Given the description of an element on the screen output the (x, y) to click on. 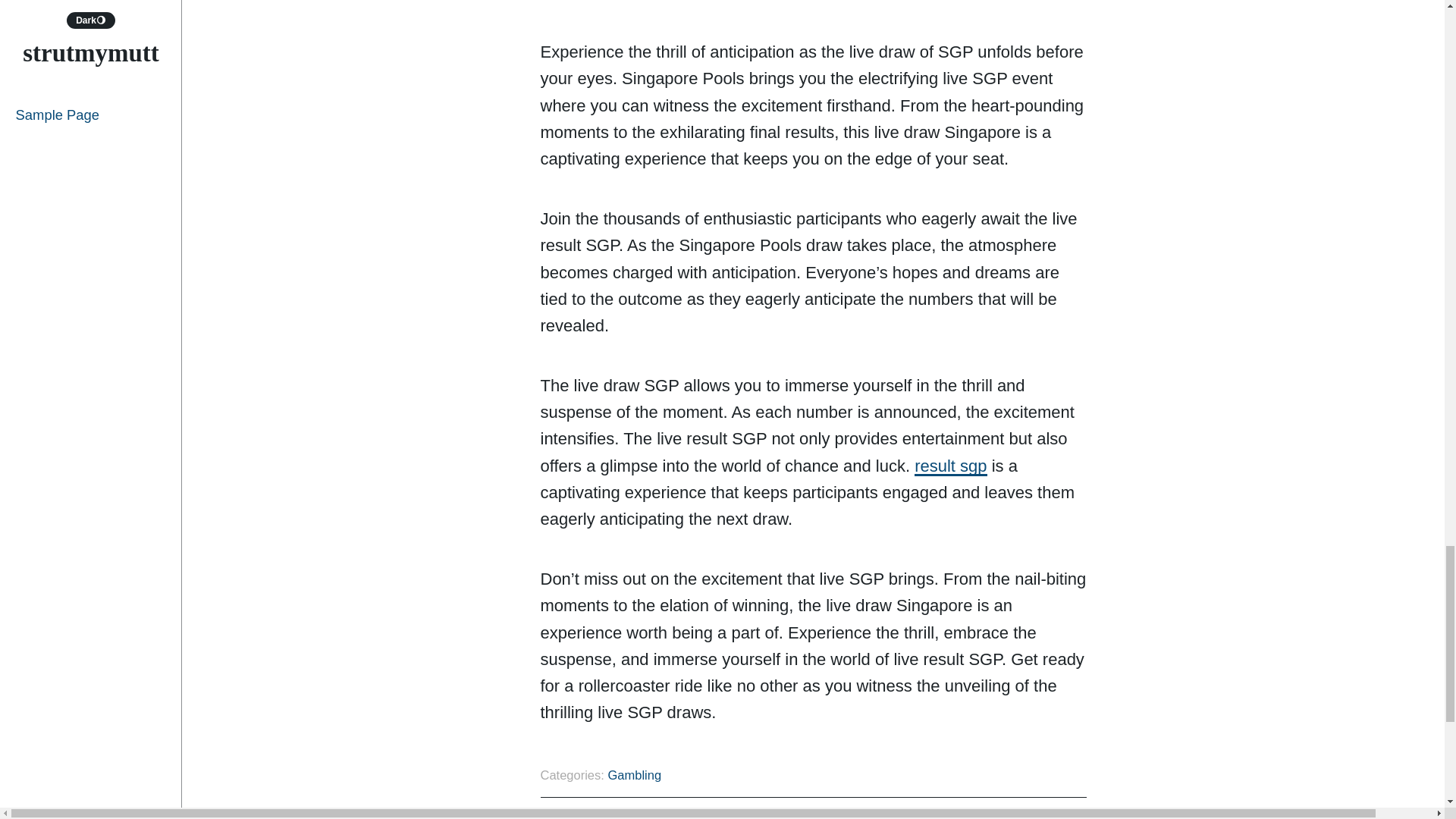
Gambling (634, 775)
result sgp (950, 465)
SebelasJuli2022 (1024, 816)
